Given the description of an element on the screen output the (x, y) to click on. 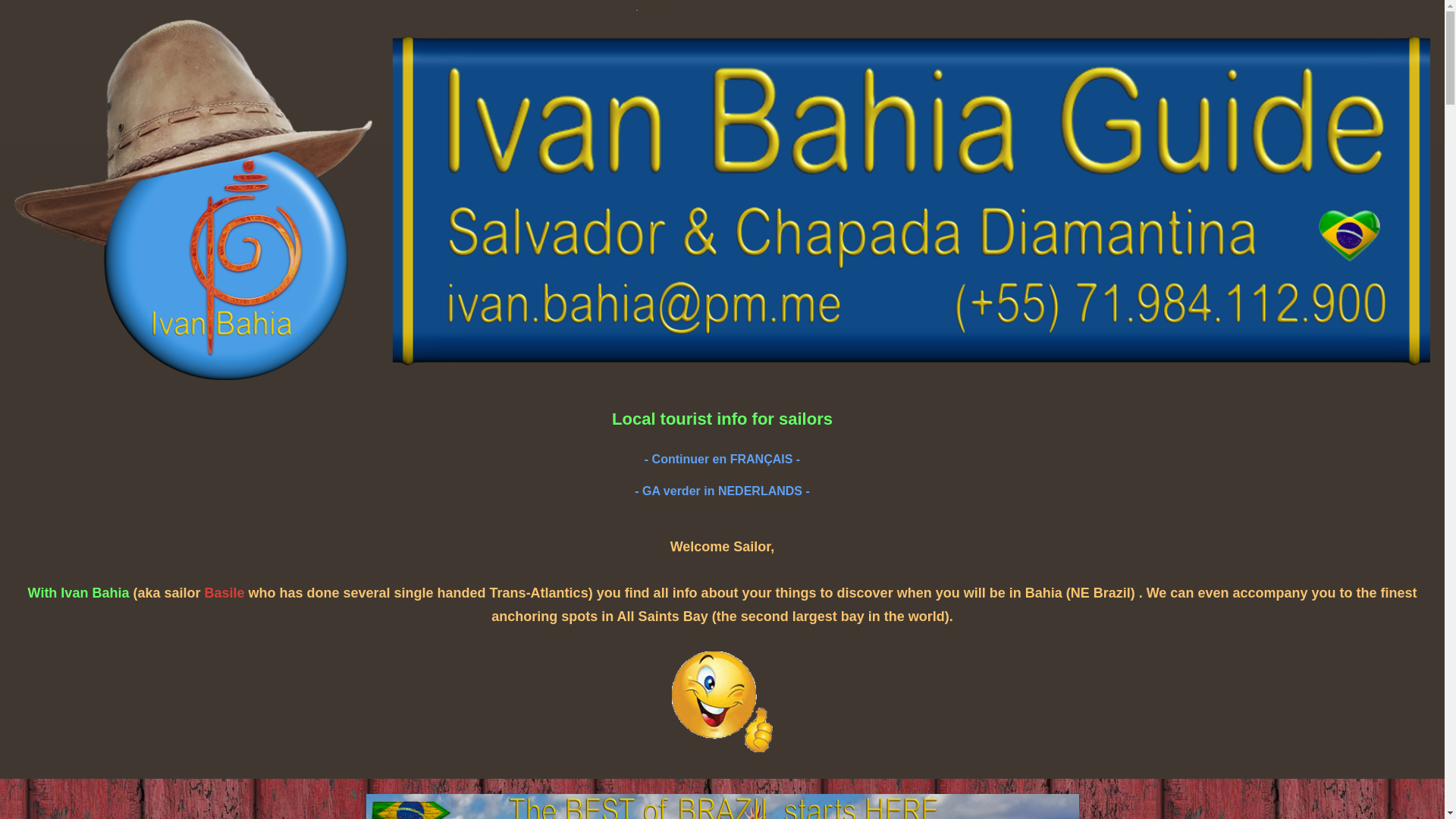
Basile Element type: text (223, 592)
- GA verder in NEDERLANDS - Element type: text (721, 490)
